Given the description of an element on the screen output the (x, y) to click on. 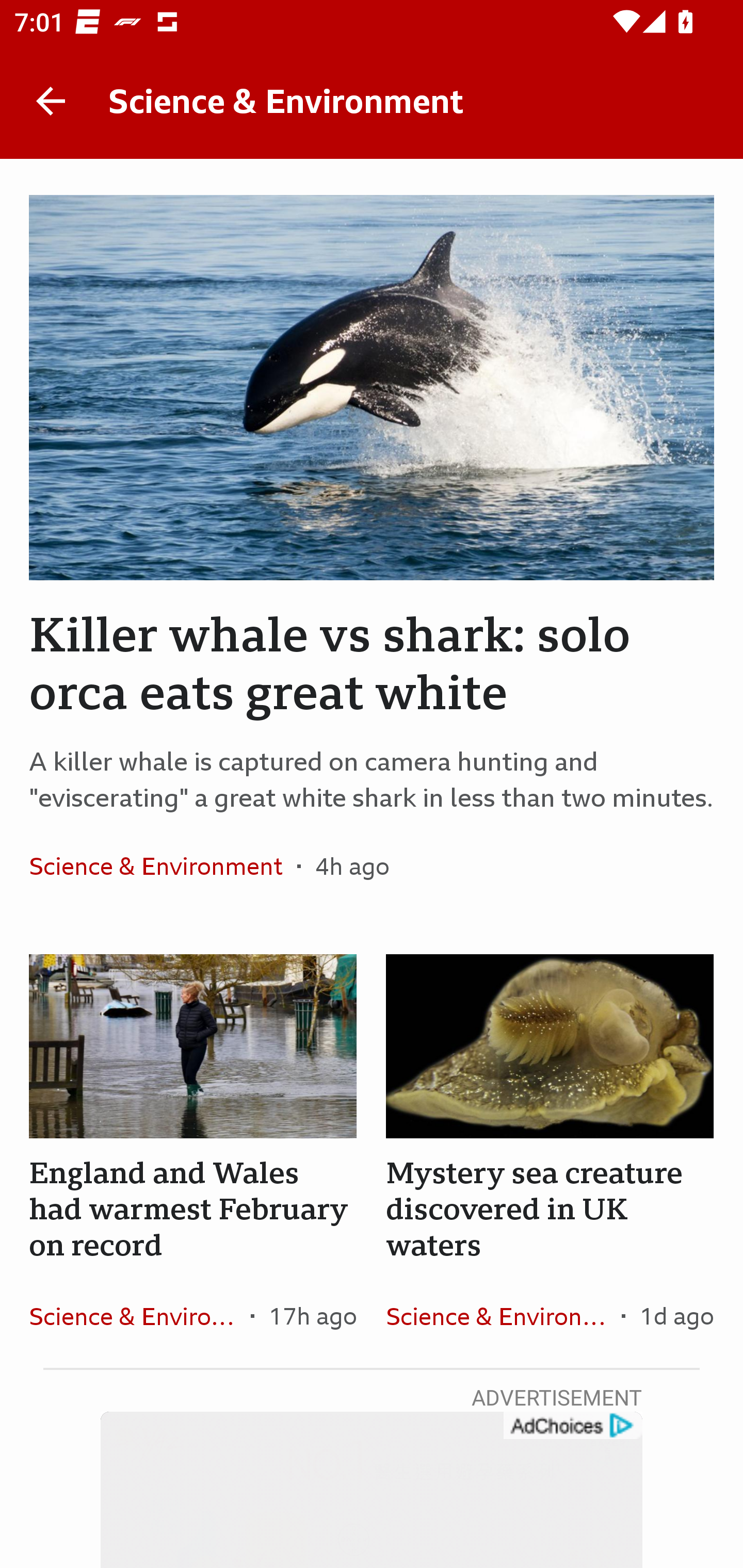
Back (50, 101)
get?name=admarker-full-tl (571, 1425)
